Given the description of an element on the screen output the (x, y) to click on. 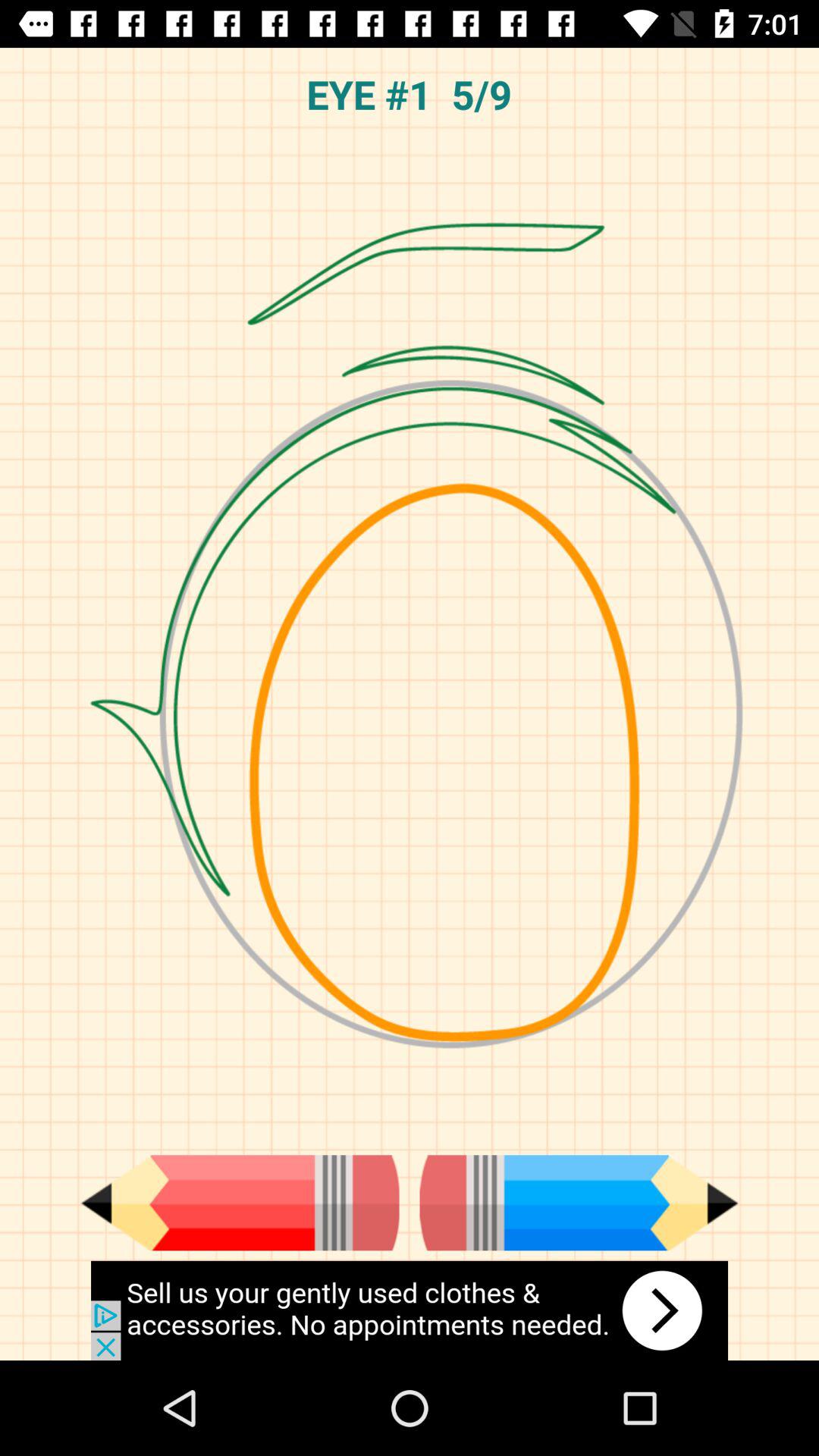
details about advertisement (409, 1310)
